Given the description of an element on the screen output the (x, y) to click on. 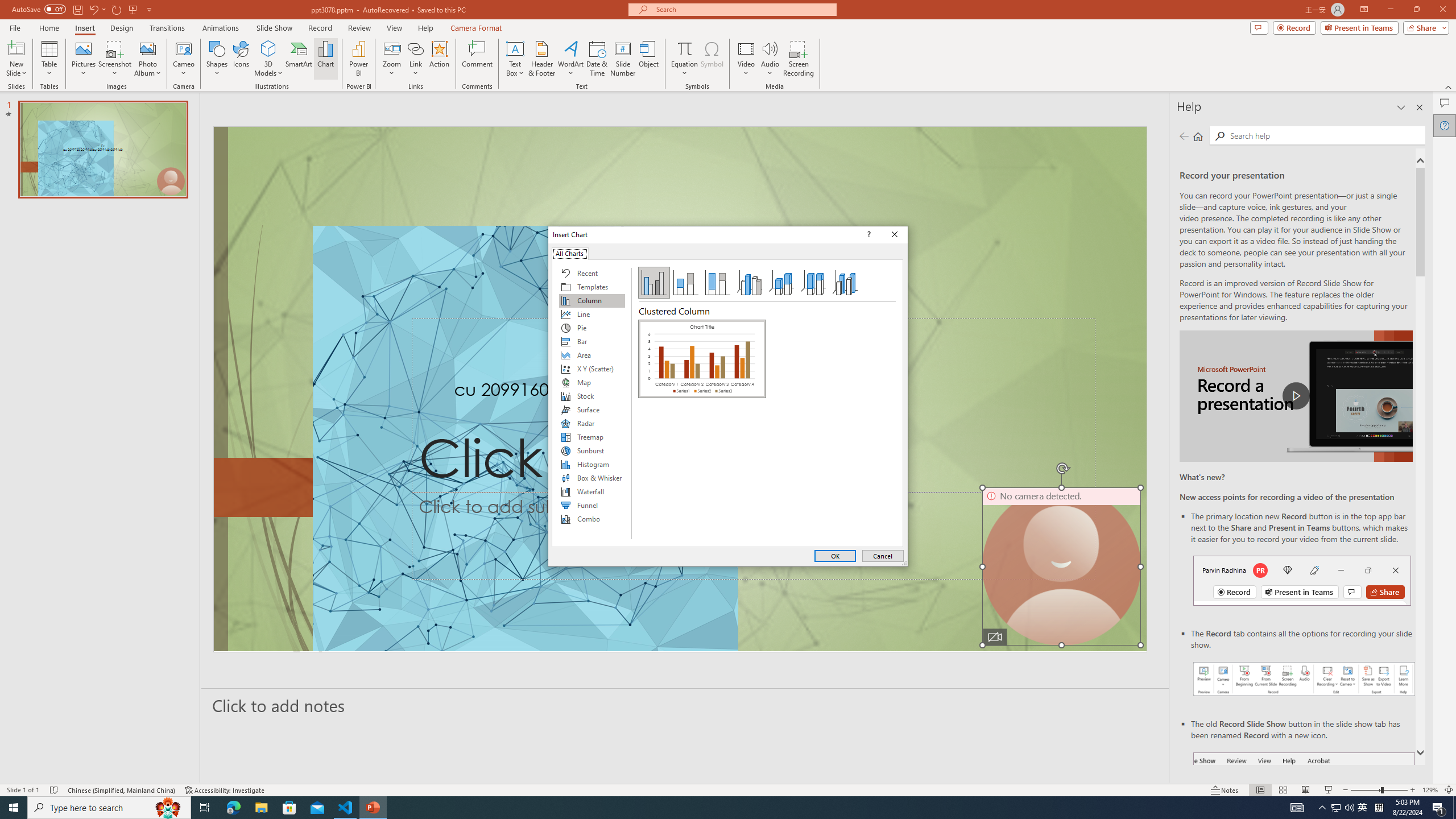
3D Models (268, 48)
Zoom 129% (1430, 790)
X Y (Scatter) (591, 368)
100% Stacked Column (717, 282)
Bar (591, 341)
3-D Stacked Column (781, 282)
